Given the description of an element on the screen output the (x, y) to click on. 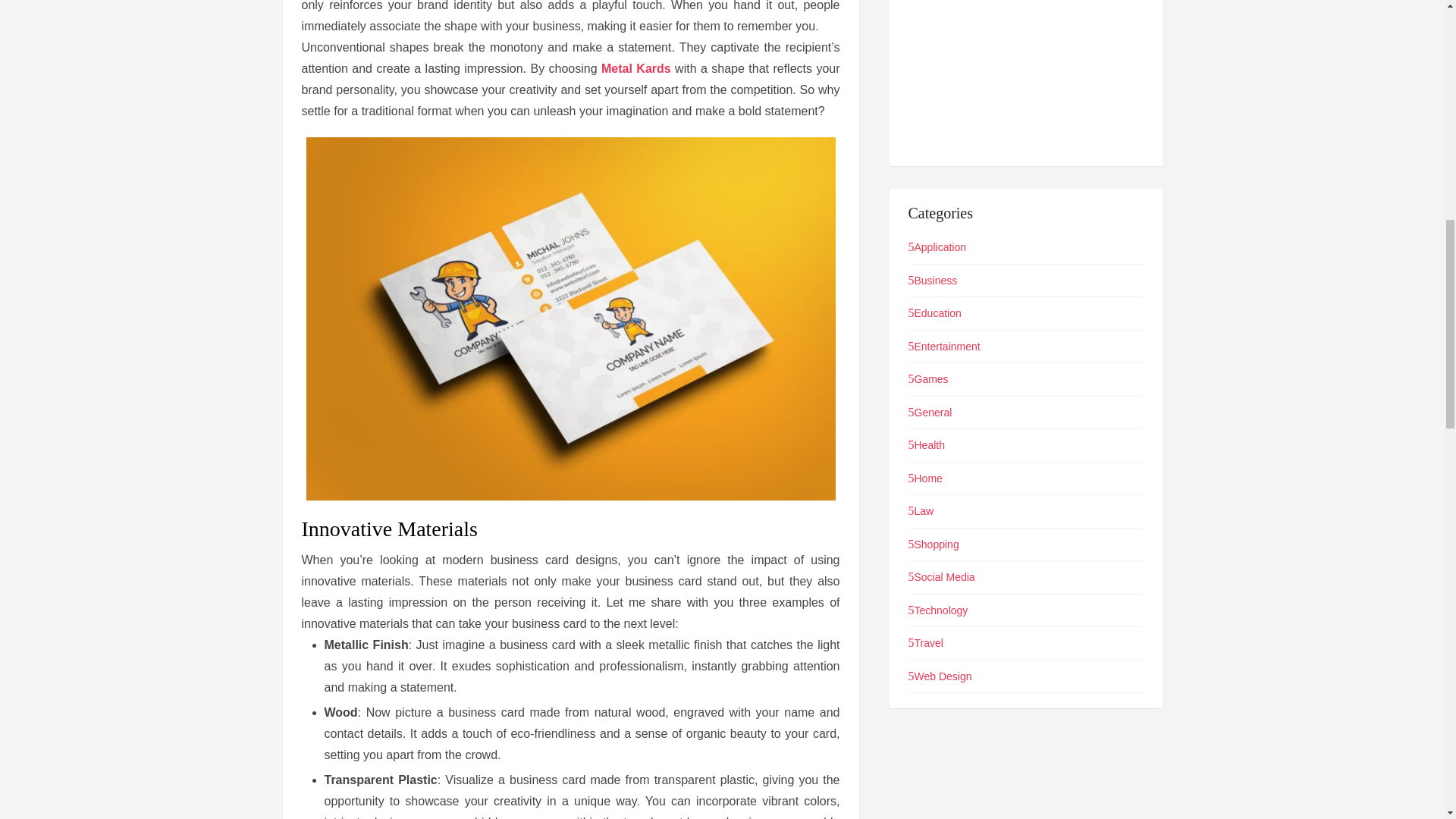
Law (921, 510)
Application (937, 246)
Education (934, 313)
Entertainment (943, 345)
Web Design (940, 676)
Travel (925, 643)
Social Media (941, 576)
Business (933, 280)
General (930, 412)
Shopping (933, 544)
